Given the description of an element on the screen output the (x, y) to click on. 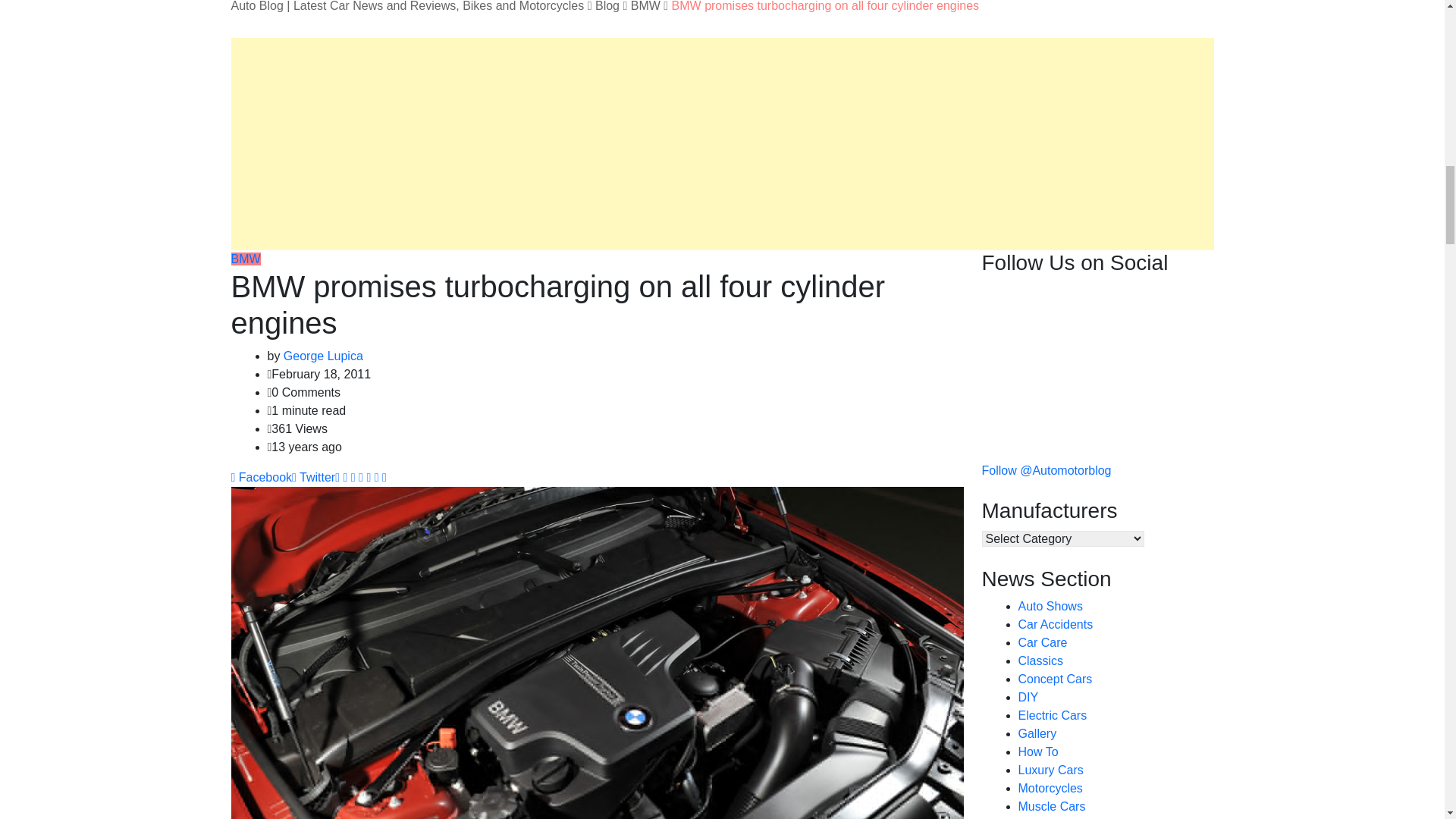
Go to the BMW Category archives. (645, 6)
Posts by George Lupica (322, 355)
Go to Blog. (607, 6)
